Given the description of an element on the screen output the (x, y) to click on. 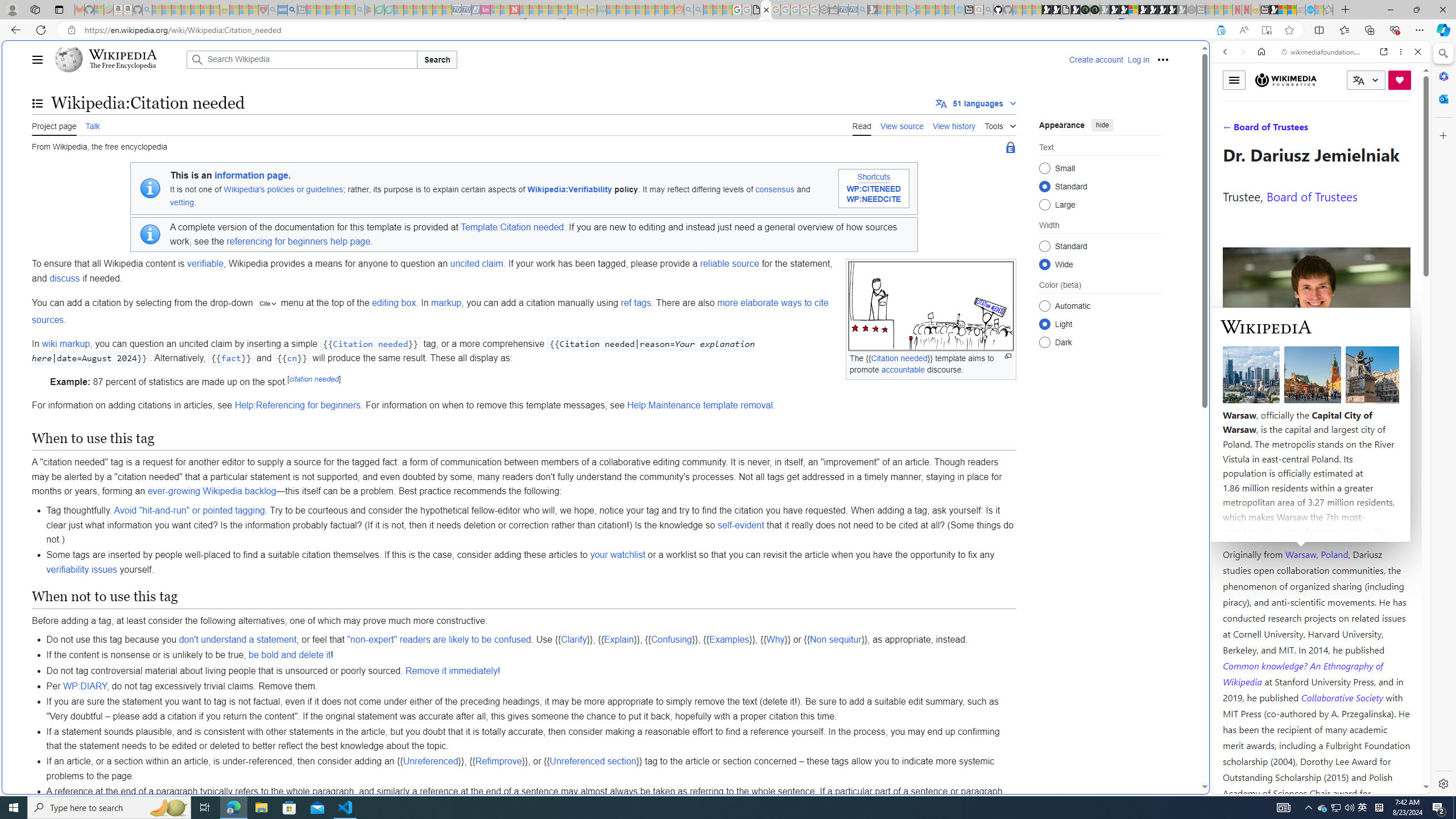
Project page (54, 124)
Extended-protected page (1010, 147)
